Given the description of an element on the screen output the (x, y) to click on. 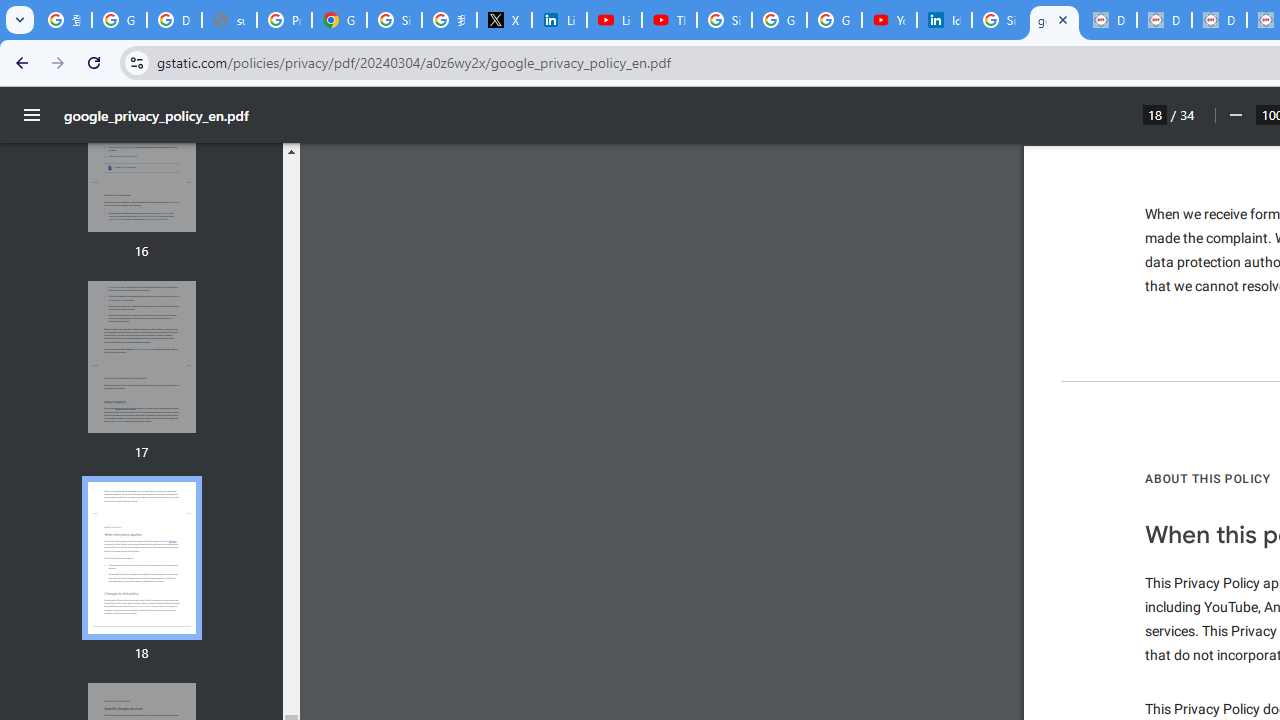
google_privacy_policy_en.pdf (1053, 20)
Thumbnail for page 17 (141, 357)
Data Privacy Framework (1108, 20)
Menu (31, 115)
support.google.com - Network error (229, 20)
Data Privacy Framework (1218, 20)
LinkedIn Privacy Policy (559, 20)
